Given the description of an element on the screen output the (x, y) to click on. 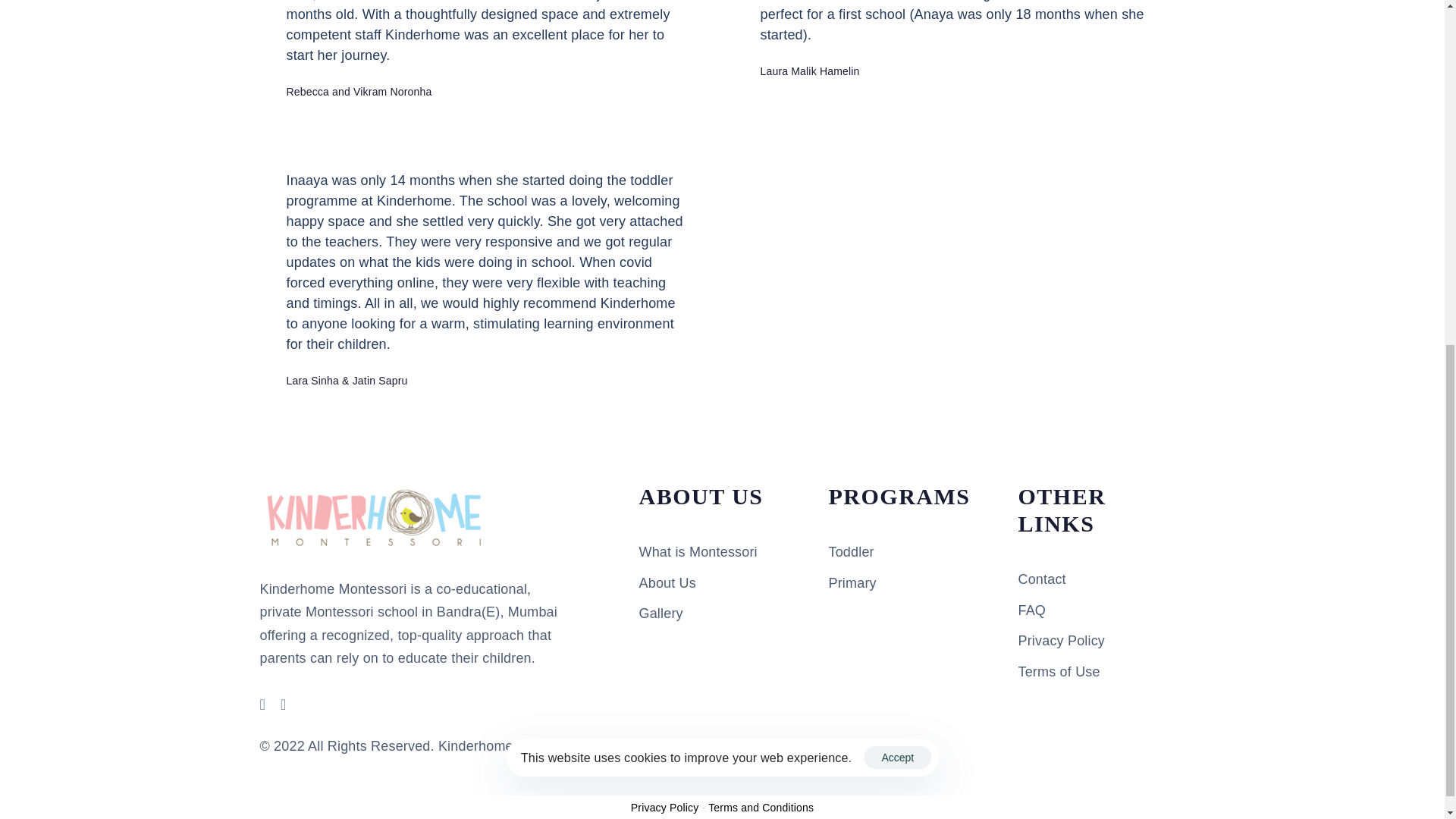
Social Sutra Digital (735, 745)
What is Montessori (722, 552)
Privacy Policy (1101, 640)
About Us (722, 583)
Terms of Use (1101, 671)
Contact (1101, 579)
Accept (897, 150)
Privacy Policy (664, 807)
Gallery (722, 613)
Primary (911, 583)
FAQ (1101, 610)
Terms and Conditions (760, 807)
Toddler (911, 552)
